Given the description of an element on the screen output the (x, y) to click on. 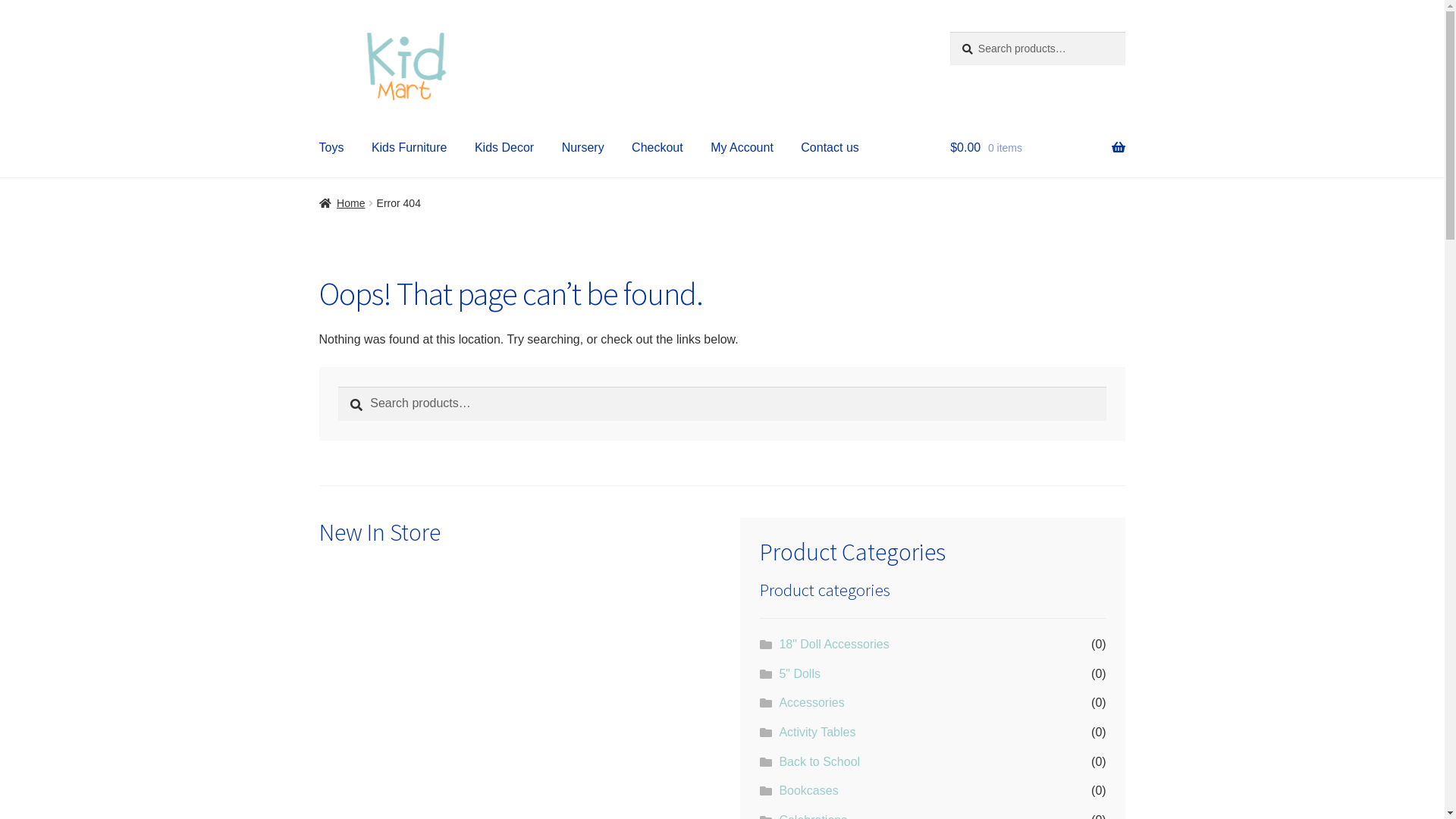
Kids Decor Element type: text (504, 147)
18" Doll Accessories Element type: text (833, 643)
Search Element type: text (337, 385)
Home Element type: text (342, 203)
Skip to navigation Element type: text (318, 31)
5" Dolls Element type: text (799, 673)
Accessories Element type: text (811, 702)
Contact us Element type: text (829, 147)
Search Element type: text (949, 31)
$0.00 0 items Element type: text (1037, 147)
Activity Tables Element type: text (816, 731)
Kids Furniture Element type: text (409, 147)
My Account Element type: text (741, 147)
Checkout Element type: text (657, 147)
Toys Element type: text (331, 147)
Back to School Element type: text (818, 761)
Bookcases Element type: text (807, 790)
Nursery Element type: text (582, 147)
